Given the description of an element on the screen output the (x, y) to click on. 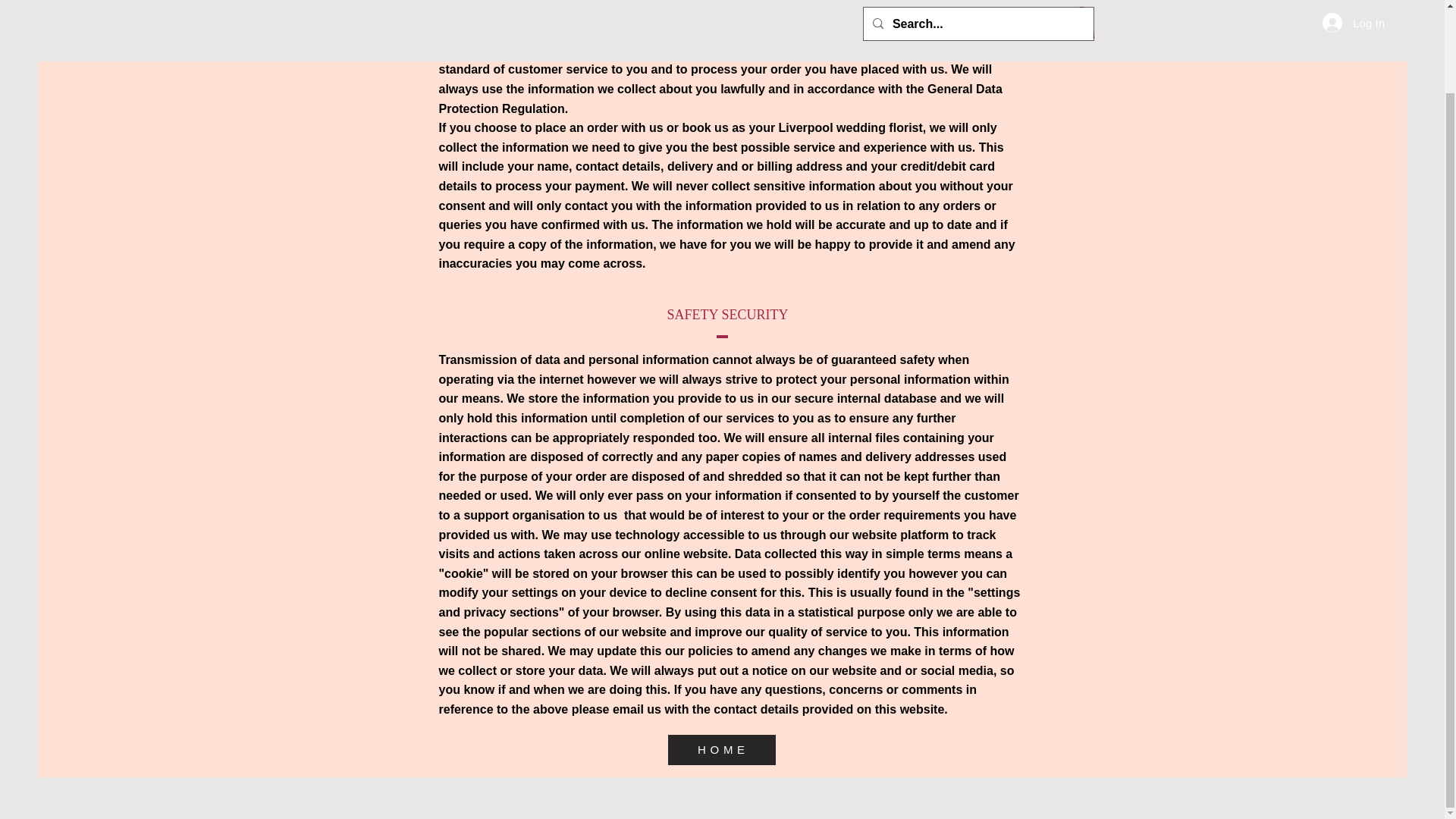
H O M E (720, 749)
